Given the description of an element on the screen output the (x, y) to click on. 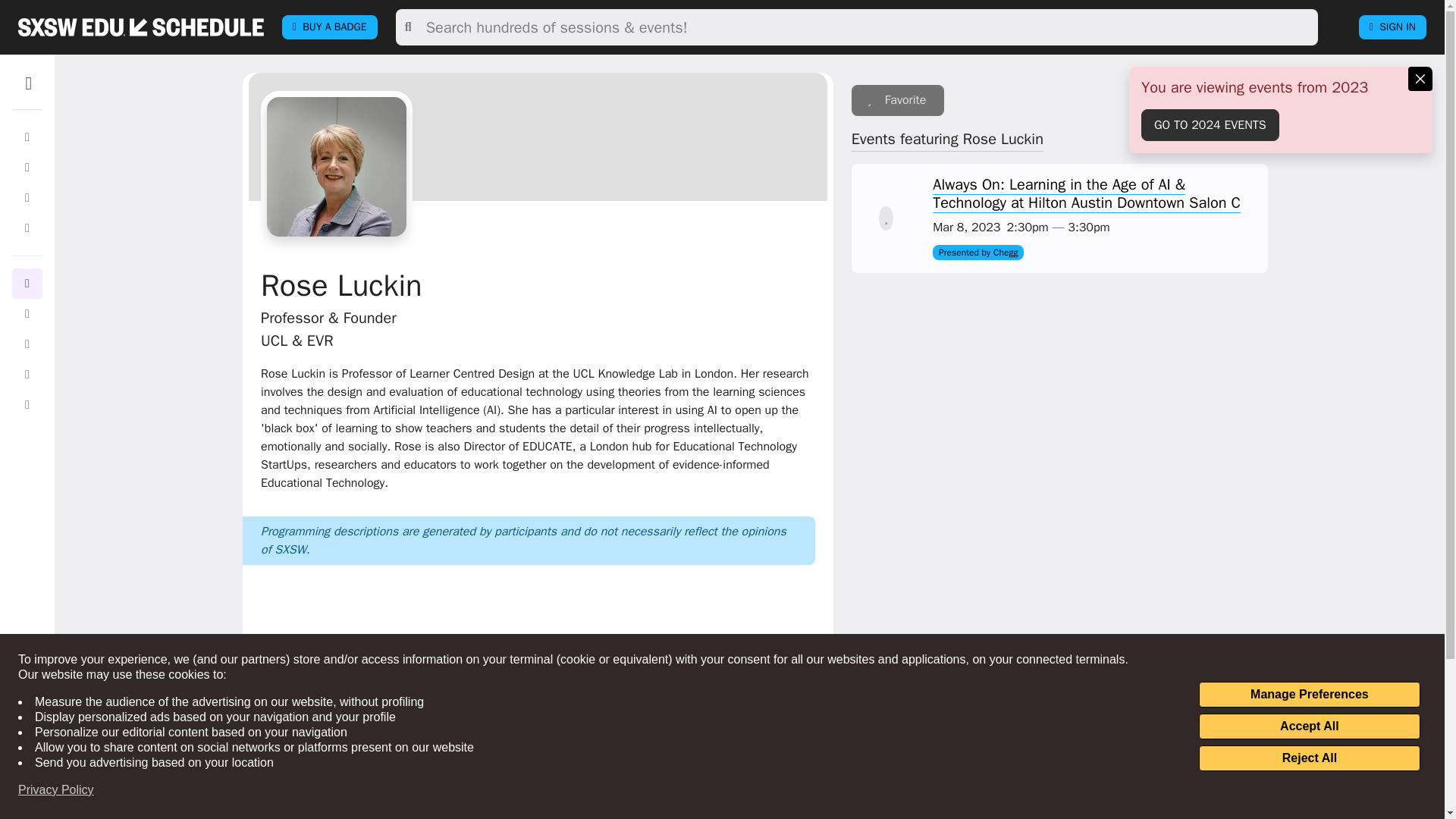
Accept All (1309, 726)
Favorite (897, 100)
Manage Preferences (1309, 694)
Sign In to add to your favorites. (897, 100)
Sign In to add to your favorites. (886, 218)
Add to Favorites (886, 218)
Reject All (1309, 758)
SIGN IN (1392, 27)
edu SCHEDULE (140, 27)
BUY A BADGE (329, 27)
GO TO 2024 EVENTS (1210, 124)
Privacy Policy (55, 789)
